Given the description of an element on the screen output the (x, y) to click on. 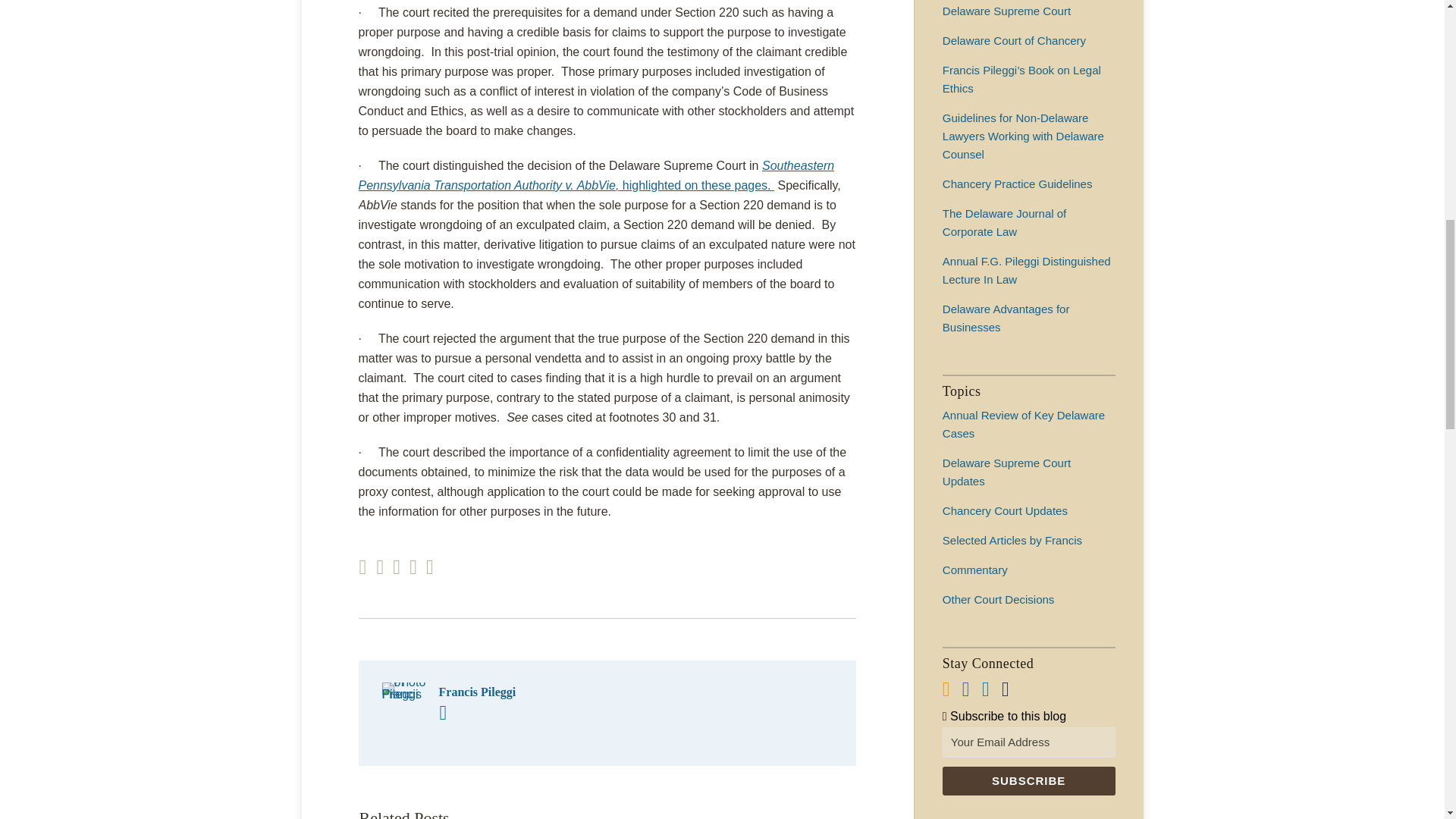
The Delaware Journal of Corporate Law (1003, 222)
Delaware Court of Chancery (1014, 40)
Chancery Practice Guidelines (1017, 183)
Annual F.G. Pileggi Distinguished Lecture In Law (1026, 269)
The Delaware Journal of Corporate Law (1003, 222)
Delaware Supreme Court (1006, 10)
Annual Review of Key Delaware Cases (1023, 423)
Commentary (974, 569)
Delaware Court of Chancery (1014, 40)
Selected Articles by Francis (1011, 540)
Subscribe (1028, 780)
Delaware Supreme Court (1006, 10)
Francis Pileggi (606, 691)
